Given the description of an element on the screen output the (x, y) to click on. 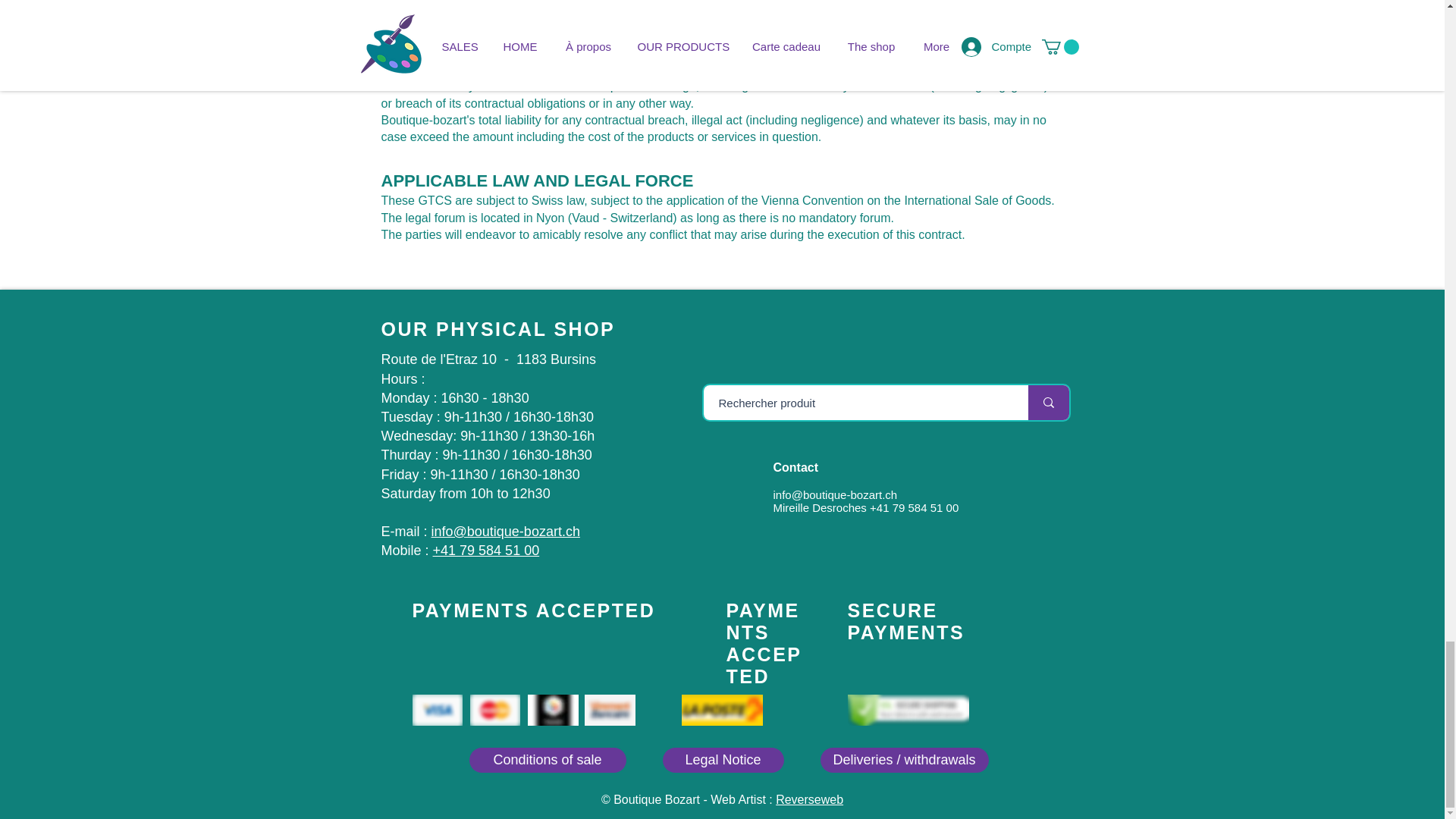
Conditions of sale (547, 760)
Reverseweb (809, 799)
Legal Notice (723, 760)
